Given the description of an element on the screen output the (x, y) to click on. 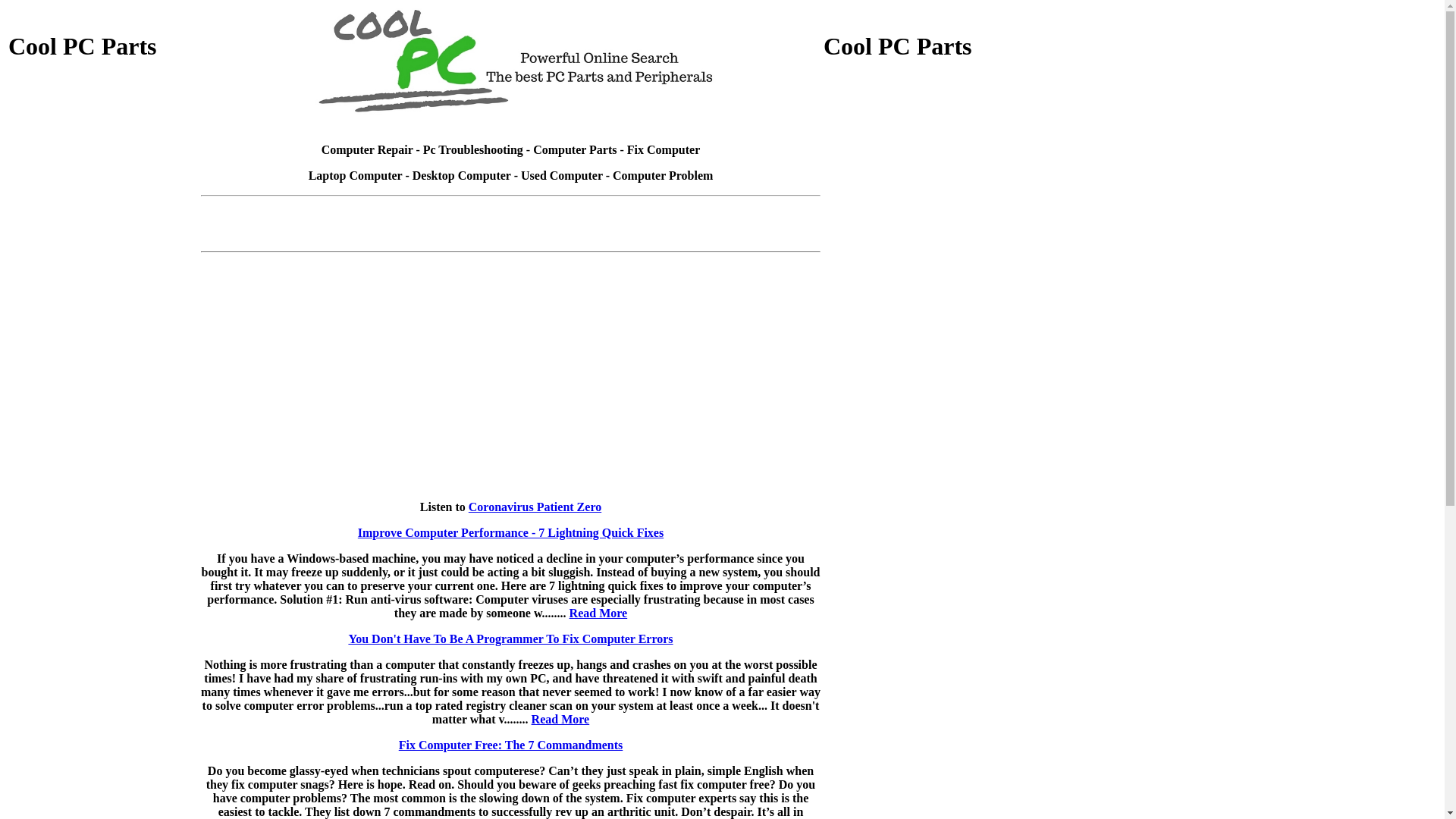
Laptop Computer Element type: text (355, 175)
Advertisement Element type: hover (918, 385)
Advertisement Element type: hover (102, 592)
Computer Parts Element type: text (574, 149)
Pc Troubleshooting Element type: text (473, 149)
You Don't Have To Be A Programmer To Fix Computer Errors Element type: text (510, 638)
Used Computer Element type: text (561, 175)
Desktop Computer Element type: text (461, 175)
Fix Computer Free: The 7 Commandments Element type: text (510, 744)
Advertisement Element type: hover (918, 179)
Computer Repair Element type: text (367, 149)
Computer Problem Element type: text (662, 175)
Advertisement Element type: hover (918, 592)
Advertisement Element type: hover (102, 179)
Advertisement Element type: hover (102, 385)
Advertisement Element type: hover (511, 207)
Fix Computer Element type: text (663, 149)
Read More Element type: text (560, 718)
Improve Computer Performance - 7 Lightning Quick Fixes Element type: text (510, 532)
Advertisement Element type: hover (511, 235)
Coronavirus Patient Zero Element type: text (534, 506)
Read More Element type: text (598, 612)
